Given the description of an element on the screen output the (x, y) to click on. 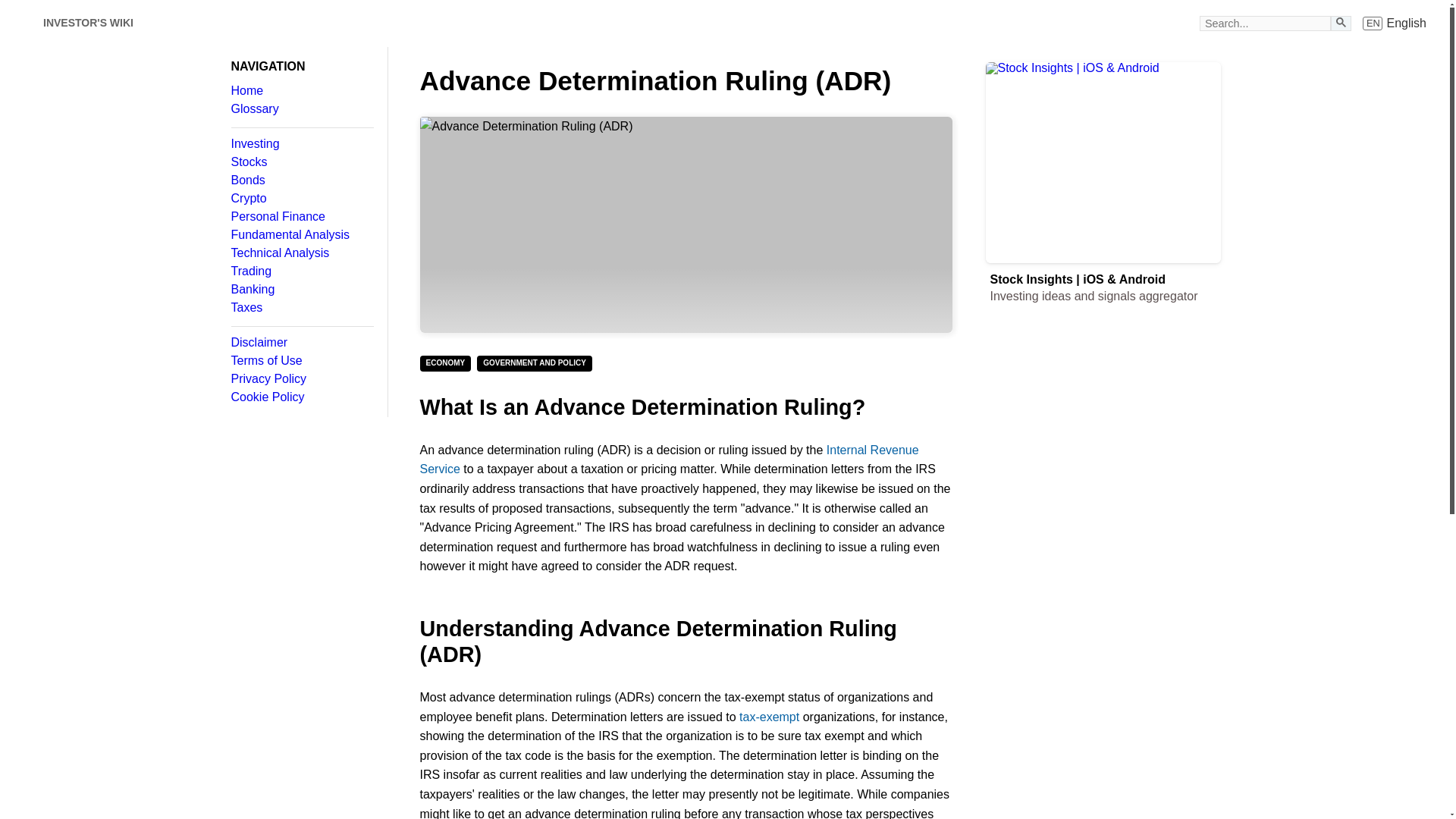
Technical Analysis (1394, 23)
Investing (301, 253)
INVESTOR'S WIKI (301, 143)
Glossary (88, 23)
Personal Finance (301, 109)
Banking (301, 216)
Investor's wiki (301, 289)
Home (23, 23)
Stocks (301, 91)
Taxes (301, 162)
Search (301, 307)
Fundamental Analysis (1340, 23)
Crypto (301, 234)
Privacy Policy (301, 198)
